Given the description of an element on the screen output the (x, y) to click on. 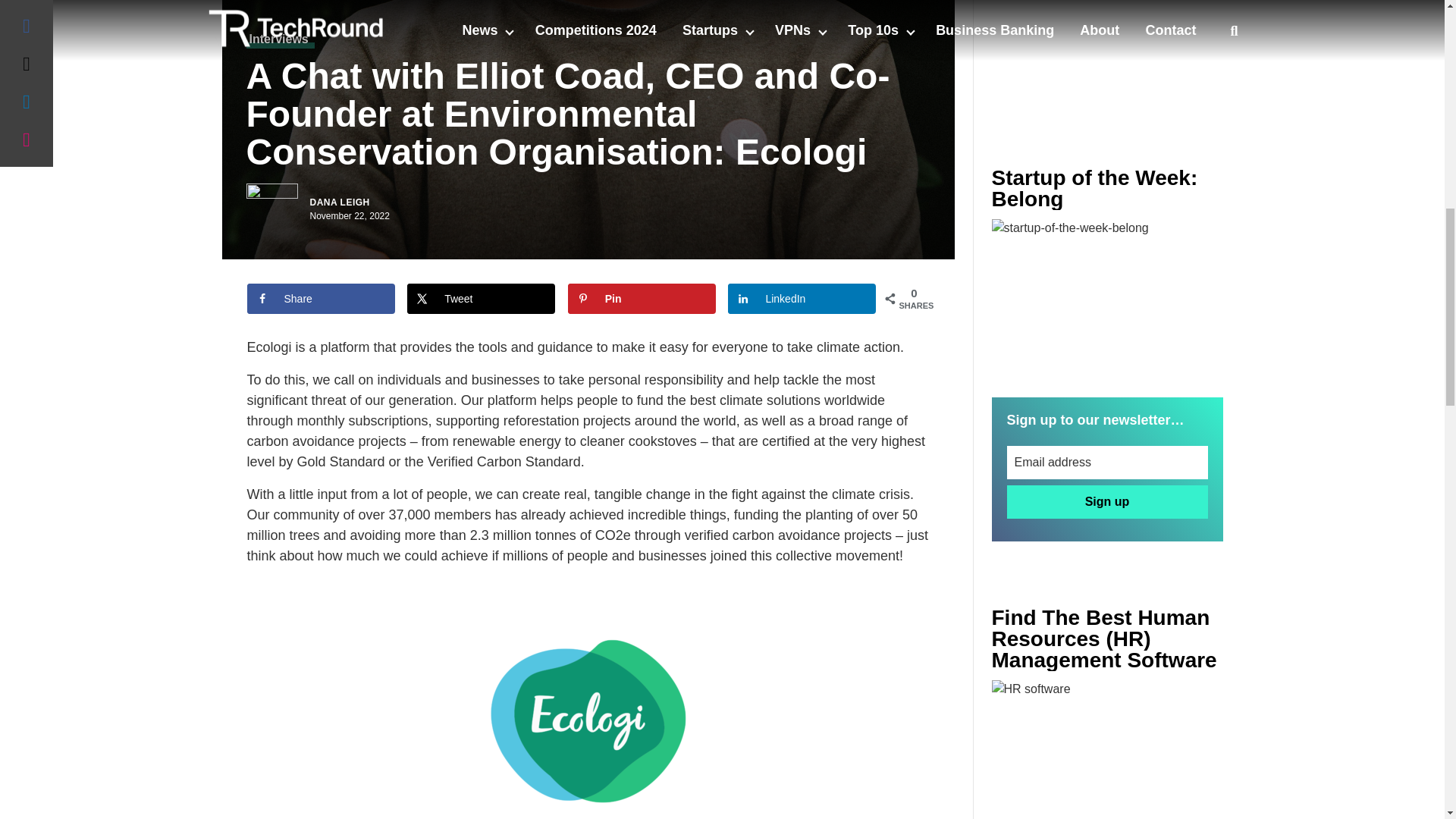
Startup of the Week: Neon Link (1107, 296)
Sign up (1107, 501)
Save to Pinterest (641, 298)
Share on LinkedIn (802, 298)
Advertisement (1107, 53)
Share on Facebook (320, 298)
Enter The BAME Top 50 Entrepreneurs - Deadline 10th Nov 2021 (1107, 749)
Share on X (480, 298)
